Given the description of an element on the screen output the (x, y) to click on. 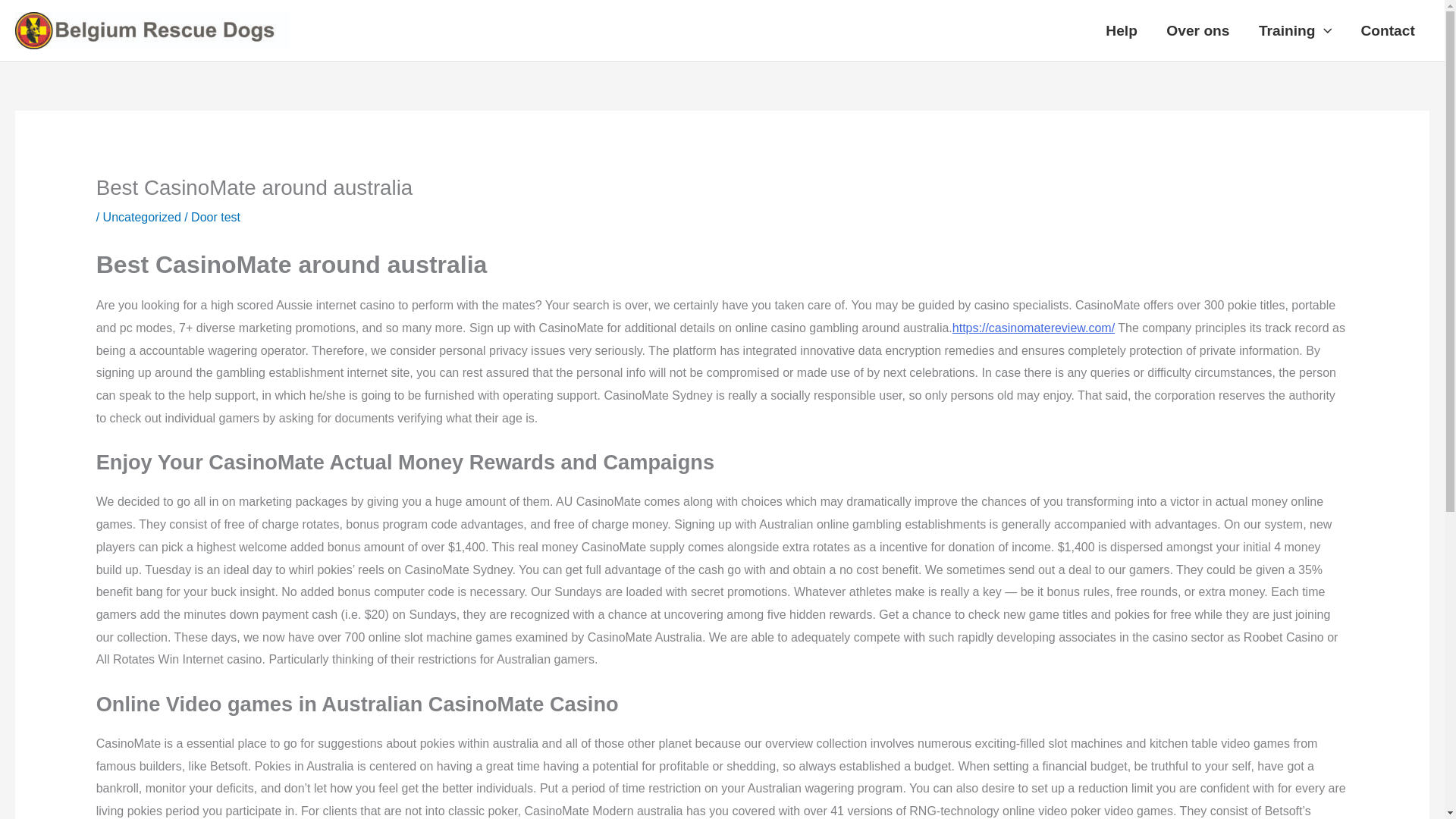
Uncategorized (141, 216)
Help (1120, 30)
Contact (1387, 30)
Training (1295, 30)
Over ons (1197, 30)
test (230, 216)
Bekijk alle berichten van test (230, 216)
